Given the description of an element on the screen output the (x, y) to click on. 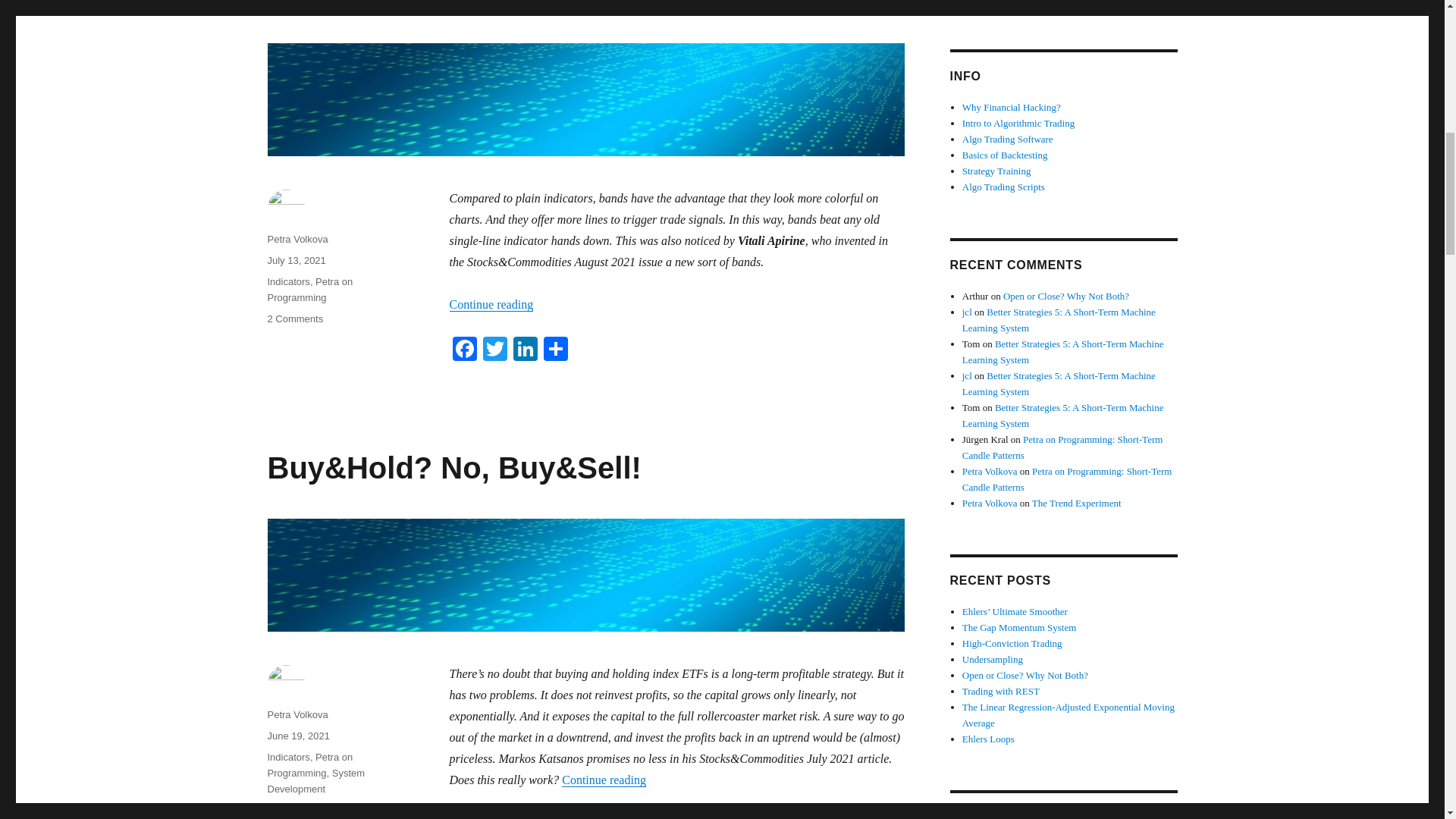
Facebook (463, 815)
July 13, 2021 (295, 260)
Facebook (463, 815)
Petra on Programming (309, 289)
LinkedIn (524, 815)
Indicators (287, 756)
System Development (294, 318)
Facebook (315, 780)
Facebook (463, 350)
